Given the description of an element on the screen output the (x, y) to click on. 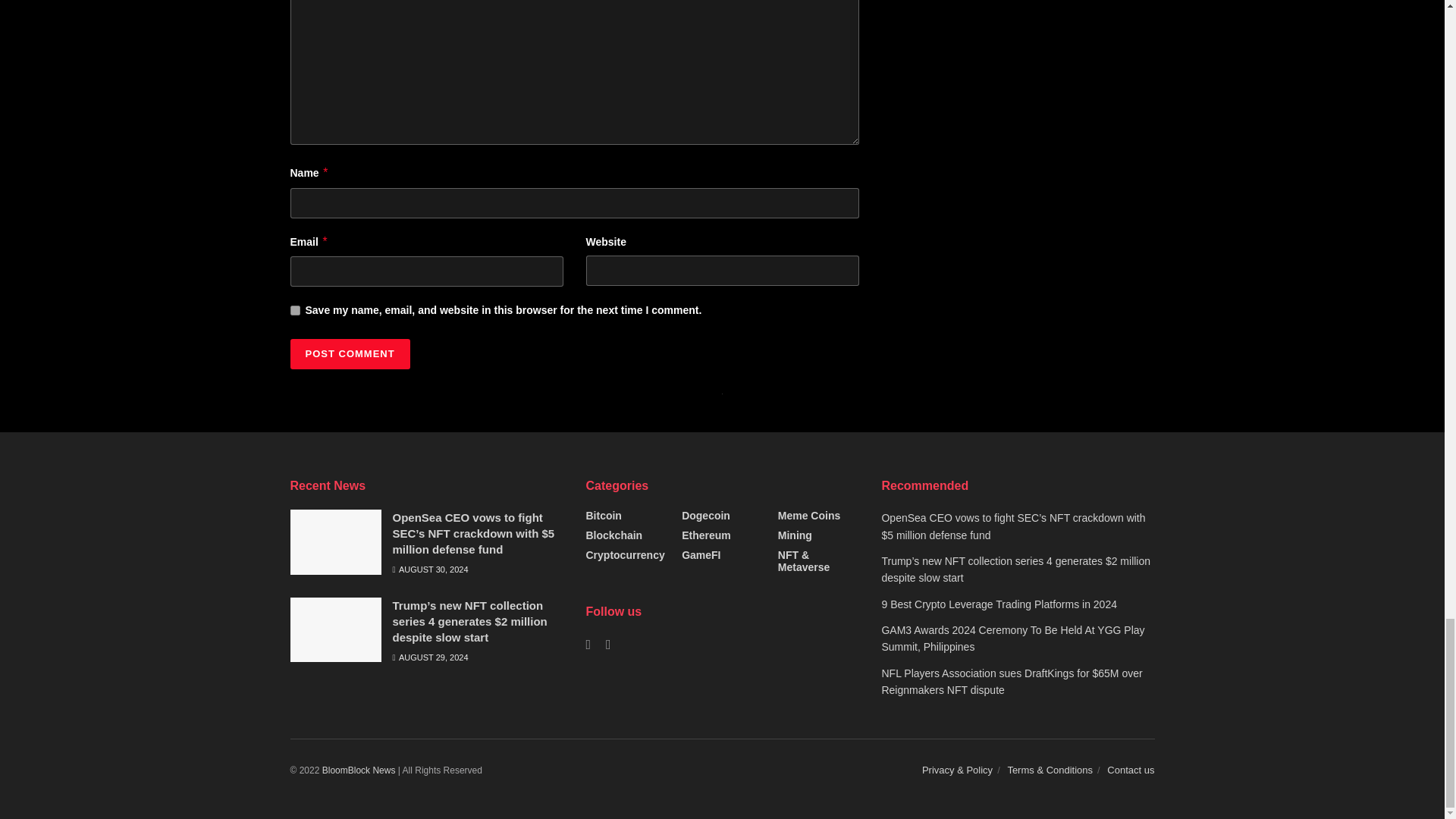
Premium news  (358, 769)
yes (294, 310)
Post Comment (349, 354)
